Given the description of an element on the screen output the (x, y) to click on. 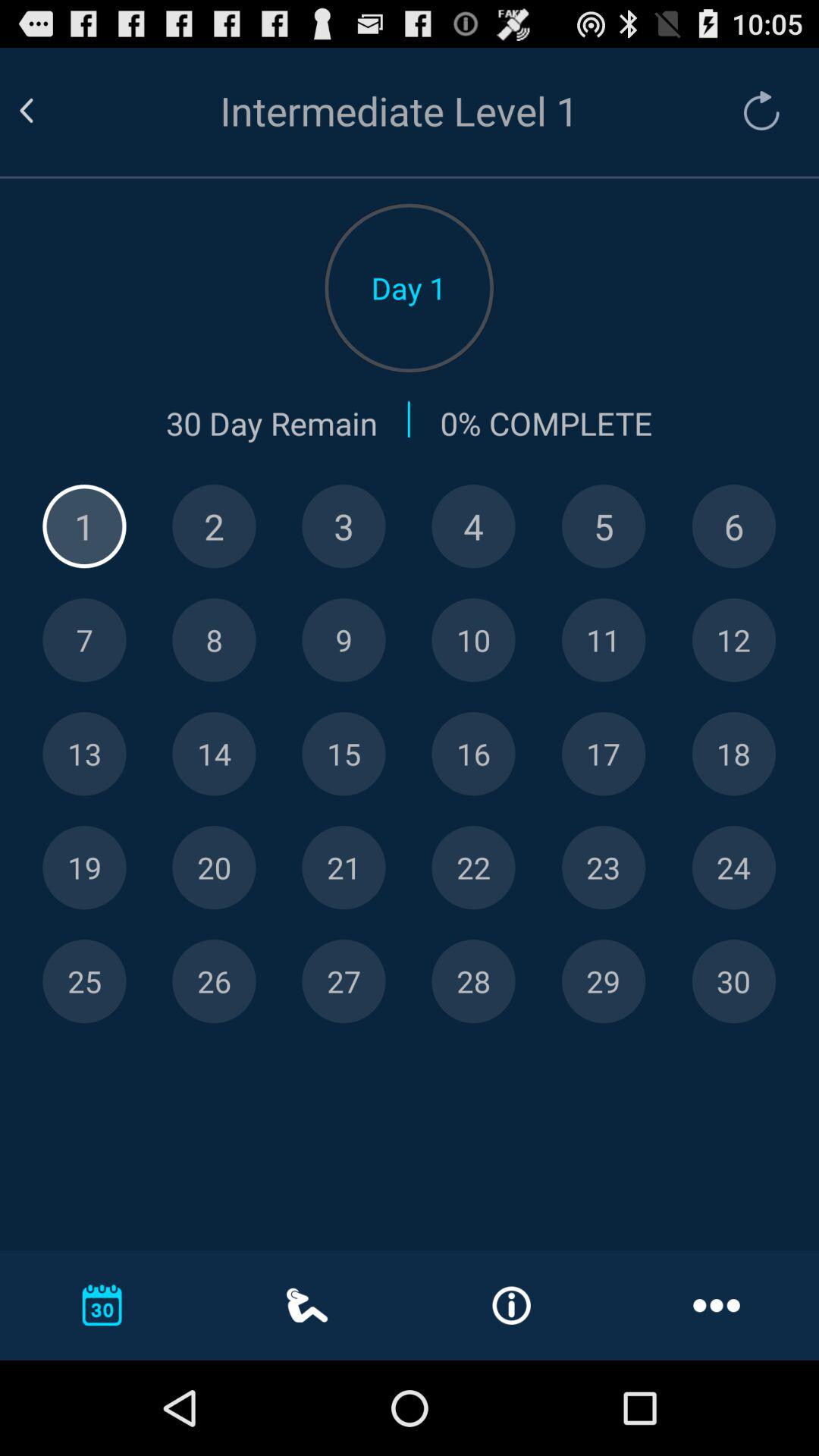
the number nine (343, 639)
